Given the description of an element on the screen output the (x, y) to click on. 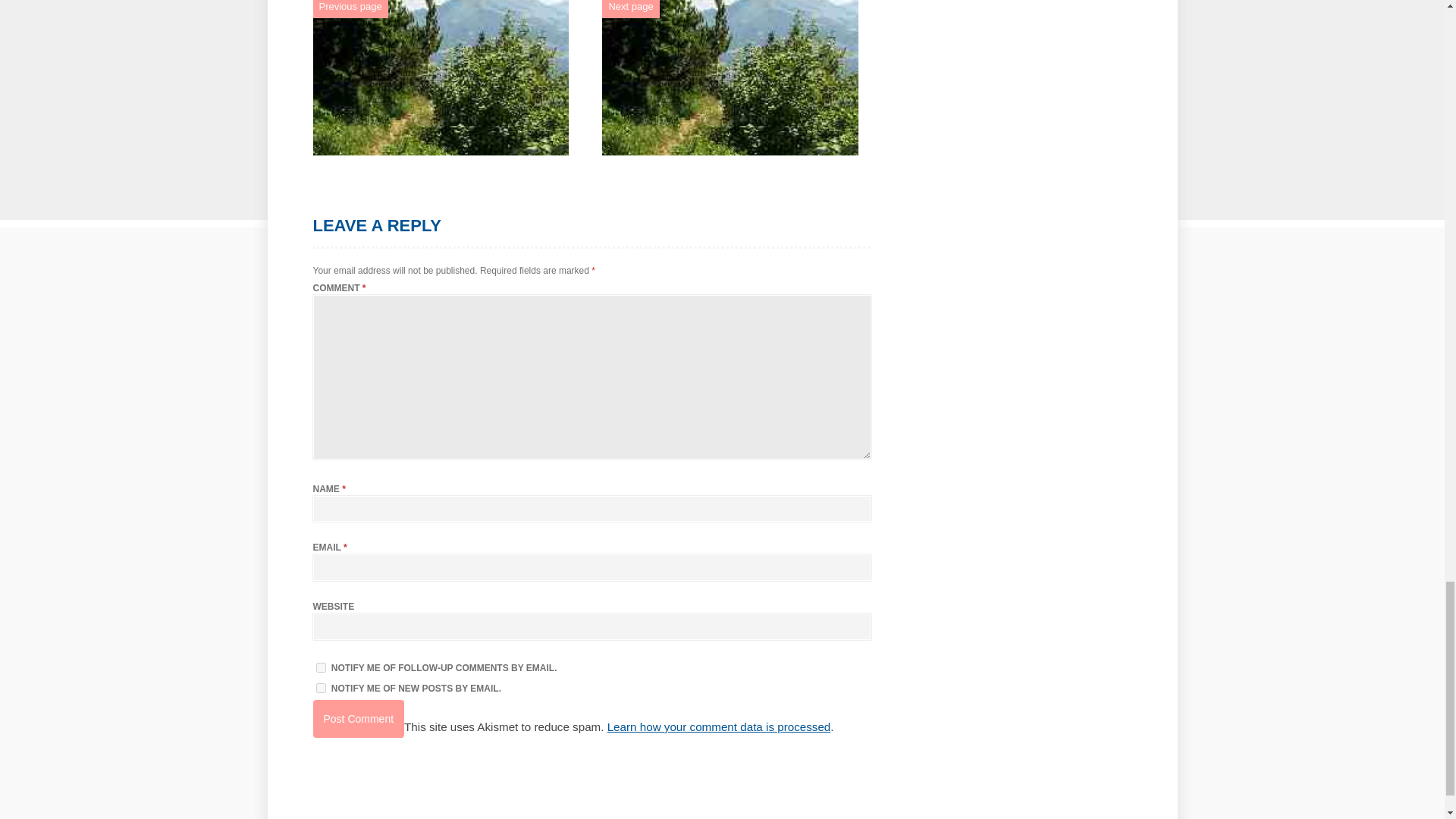
subscribe (319, 687)
Previous page (349, 6)
Learn how your comment data is processed (719, 726)
Next page (630, 6)
Post Comment (358, 718)
Post Comment (358, 718)
subscribe (319, 667)
